Given the description of an element on the screen output the (x, y) to click on. 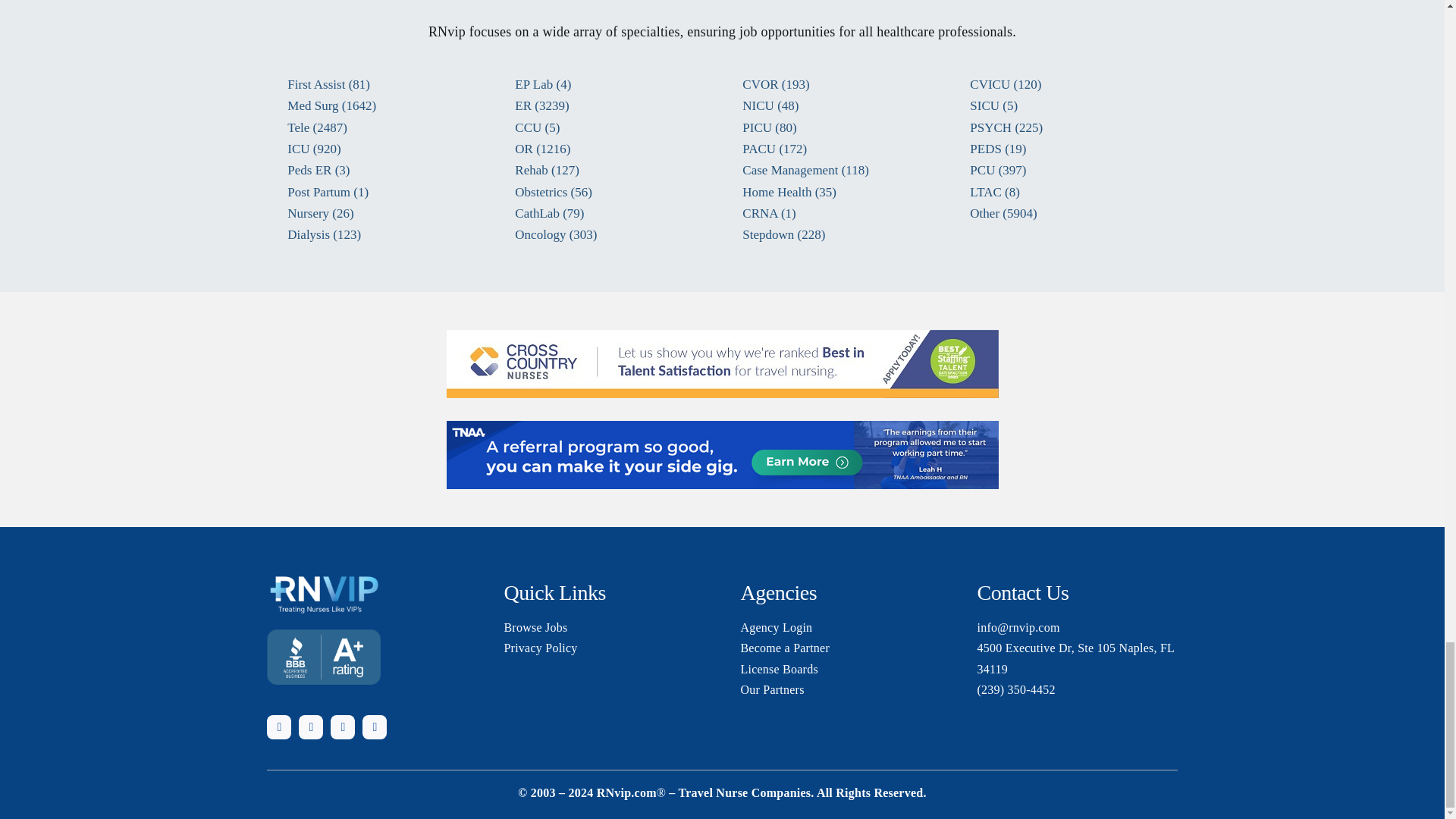
rnvip-white (323, 593)
